Given the description of an element on the screen output the (x, y) to click on. 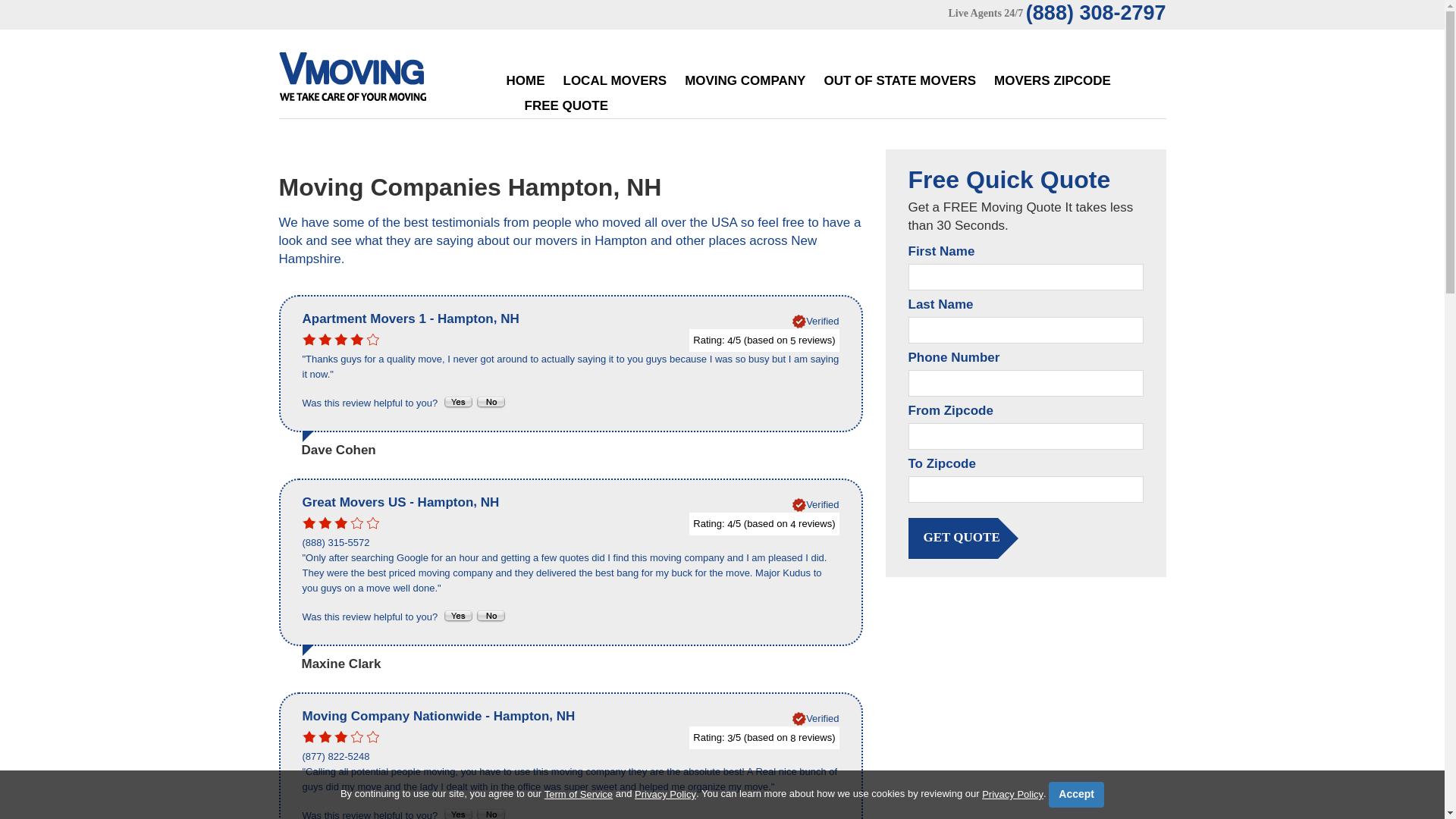
MOVERS ZIPCODE (1052, 80)
OUT OF STATE MOVERS (899, 80)
HOME (525, 80)
LOCAL MOVERS (614, 80)
VMoving (384, 80)
MOVING COMPANY (744, 80)
FREE QUOTE (566, 105)
